Given the description of an element on the screen output the (x, y) to click on. 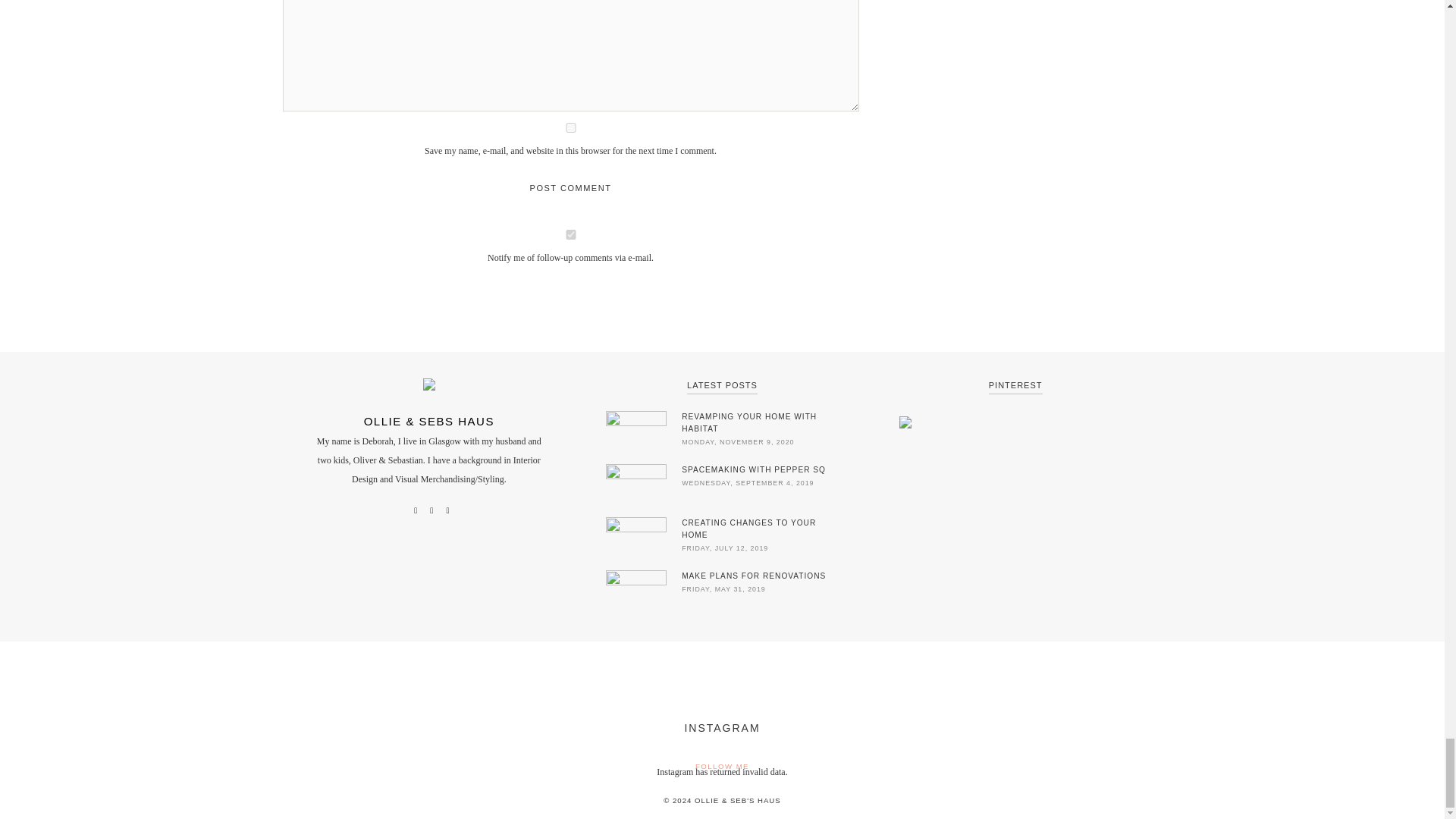
yes (570, 127)
Revamping your home with Habitat (759, 422)
Spacemaking with Pepper Sq (759, 469)
Creating changes to your home (759, 528)
Post Comment (570, 187)
Make plans for renovations (759, 576)
